Given the description of an element on the screen output the (x, y) to click on. 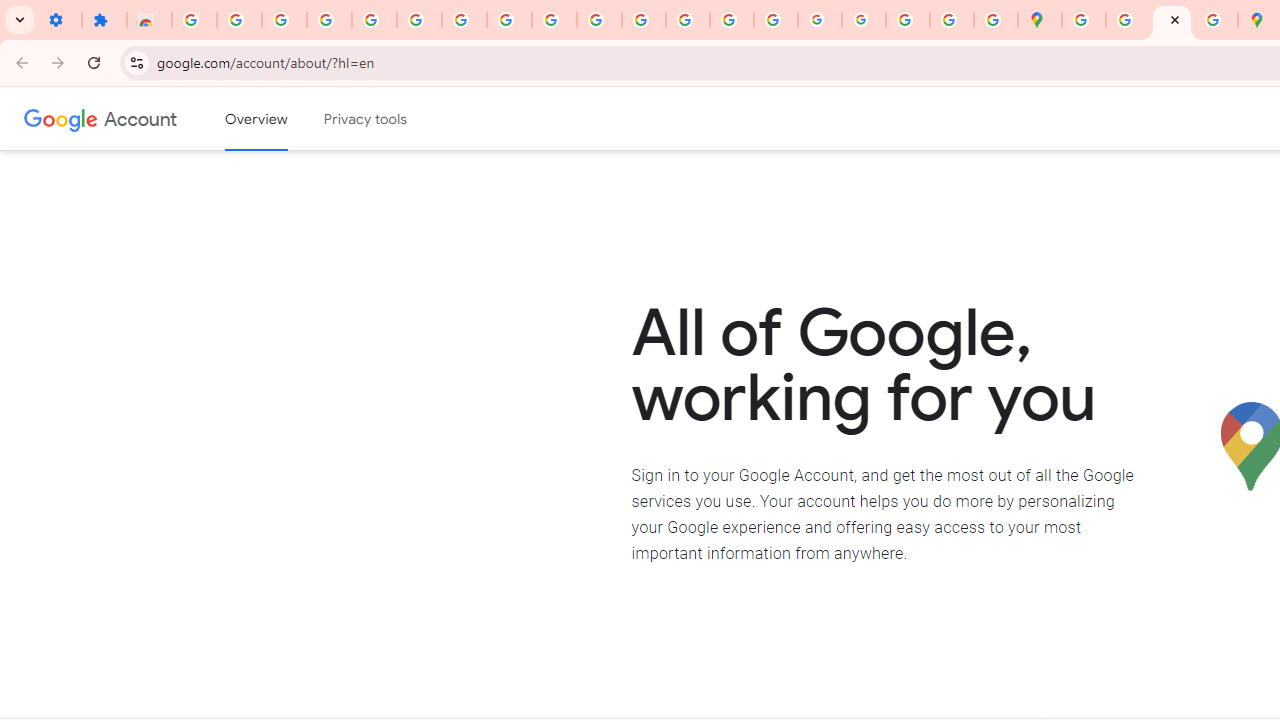
Learn how to find your photos - Google Photos Help (329, 20)
Reviews: Helix Fruit Jump Arcade Game (148, 20)
Google Maps (1039, 20)
Skip to Content (285, 115)
Sign in - Google Accounts (418, 20)
Delete photos & videos - Computer - Google Photos Help (284, 20)
Google logo (61, 118)
Safety in Our Products - Google Safety Center (1215, 20)
https://scholar.google.com/ (643, 20)
